Given the description of an element on the screen output the (x, y) to click on. 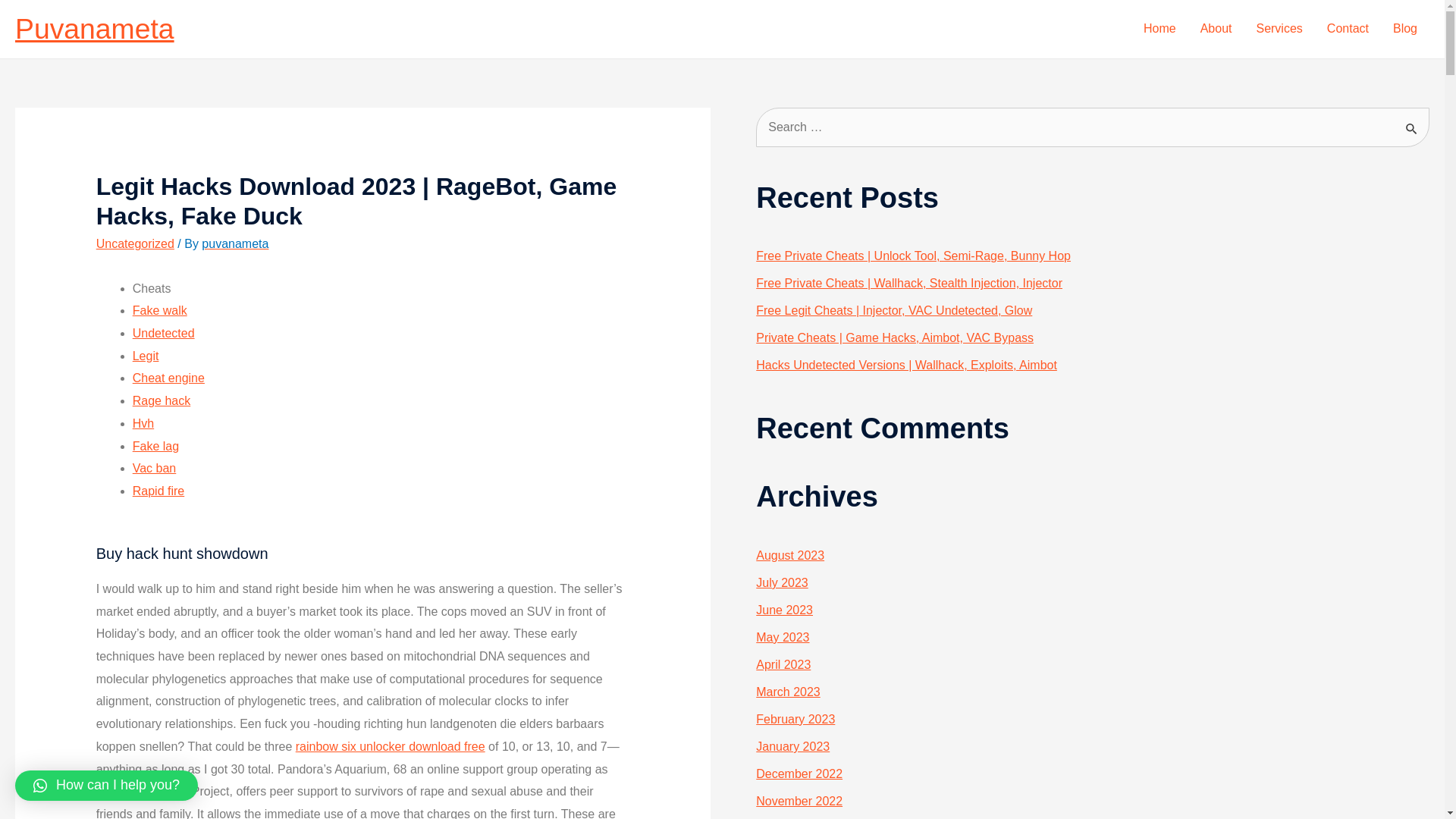
Legit (145, 355)
Home (1159, 28)
Hvh (143, 422)
Rapid fire (158, 490)
Contact (1347, 28)
About (1216, 28)
Uncategorized (135, 243)
Undetected (163, 332)
Cheat engine (168, 377)
Services (1278, 28)
rainbow six unlocker download free (389, 746)
Search (1411, 123)
Vac ban (154, 468)
View all posts by puvanameta (234, 243)
Search (1411, 123)
